Given the description of an element on the screen output the (x, y) to click on. 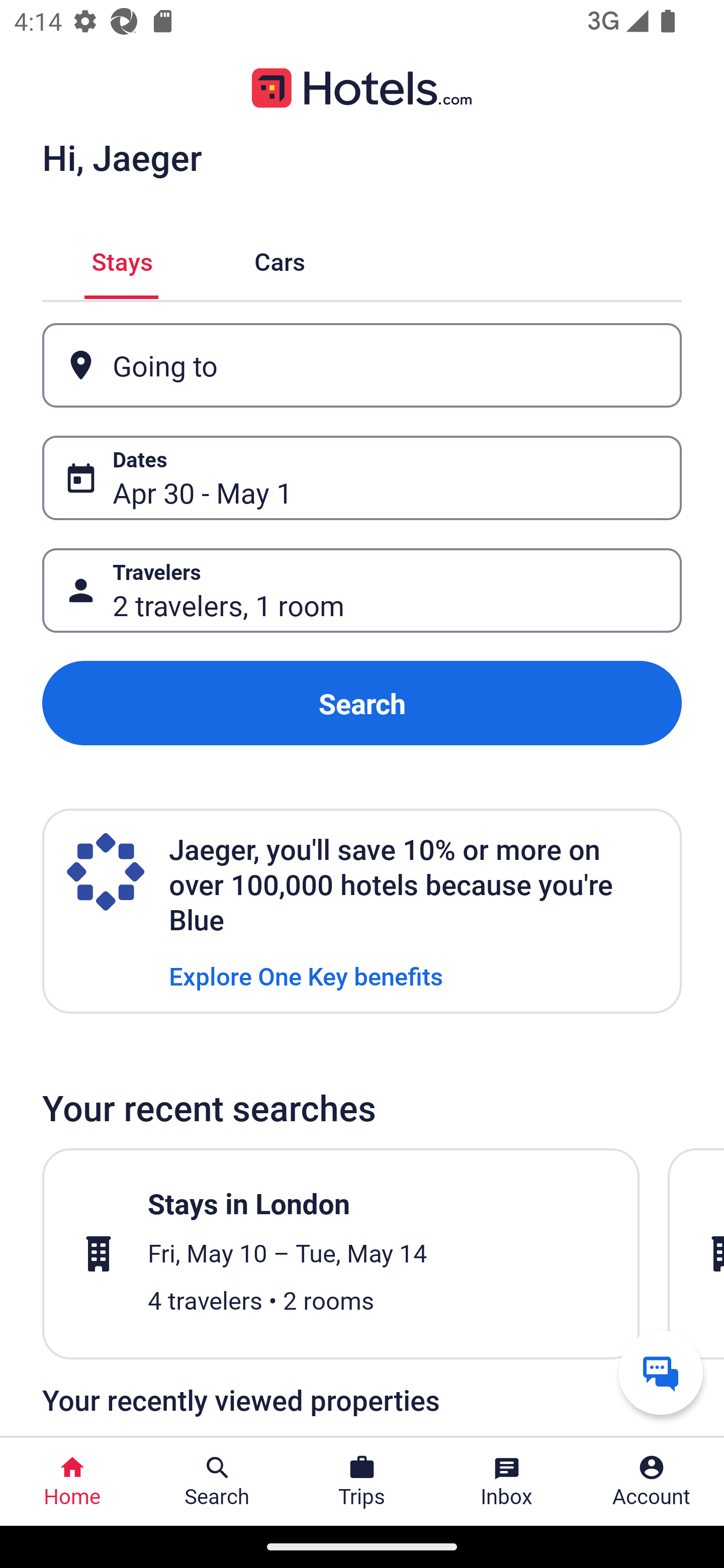
Hi, Jaeger (121, 156)
Cars (279, 259)
Going to Button (361, 365)
Dates Button Apr 30 - May 1 (361, 477)
Travelers Button 2 travelers, 1 room (361, 590)
Search (361, 702)
Get help from a virtual agent (660, 1371)
Search Search Button (216, 1481)
Trips Trips Button (361, 1481)
Inbox Inbox Button (506, 1481)
Account Profile. Button (651, 1481)
